Given the description of an element on the screen output the (x, y) to click on. 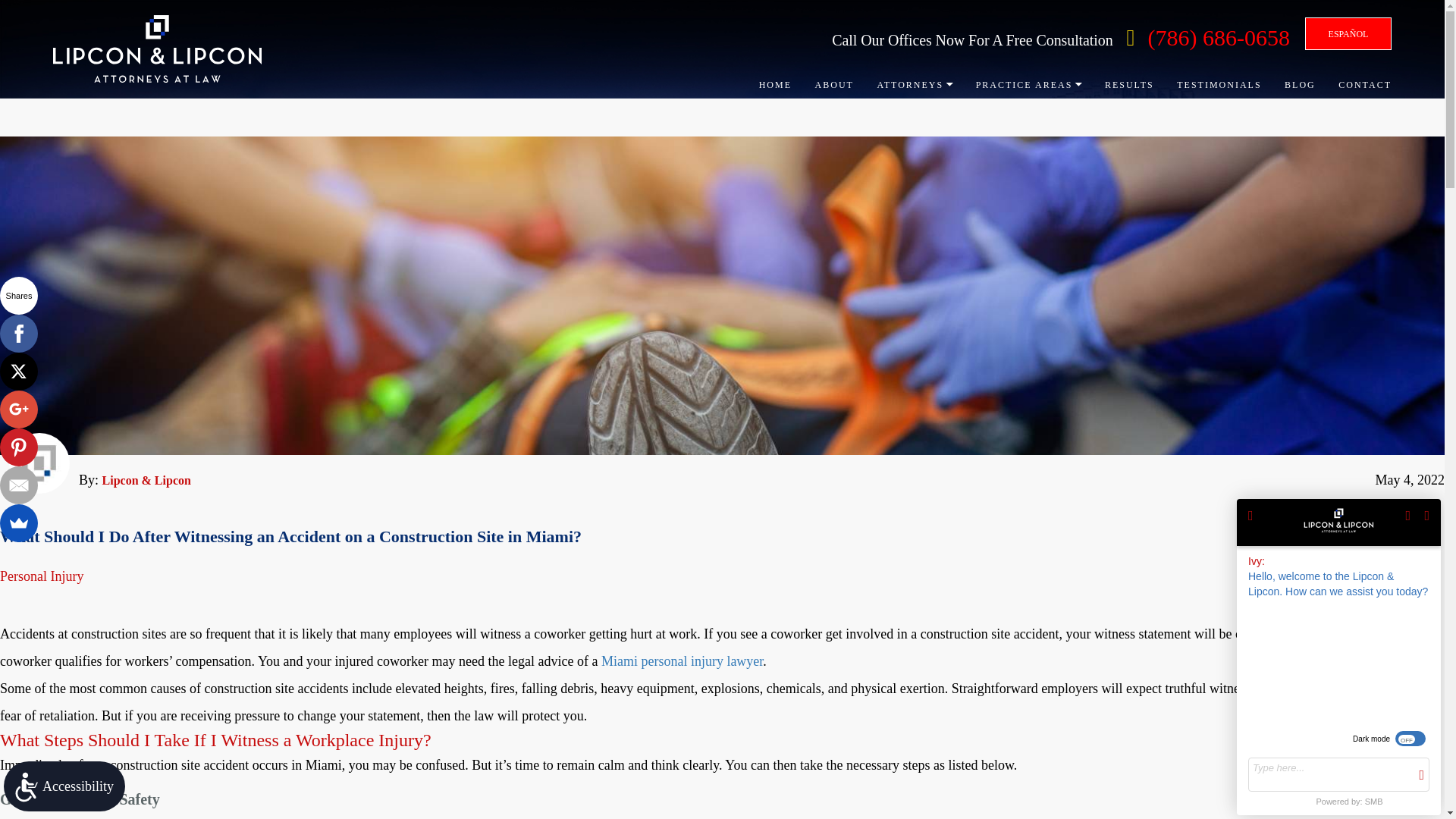
ATTORNEYS (914, 84)
RESULTS (1129, 84)
Accessibility (64, 786)
BLOG (1300, 84)
Pinterest (18, 447)
CONTACT (1364, 84)
PRACTICE AREAS (1028, 84)
X (18, 371)
SumoMe (18, 523)
Facebook (18, 333)
TESTIMONIALS (1218, 84)
ABOUT (834, 84)
Email (18, 485)
HOME (775, 84)
